Given the description of an element on the screen output the (x, y) to click on. 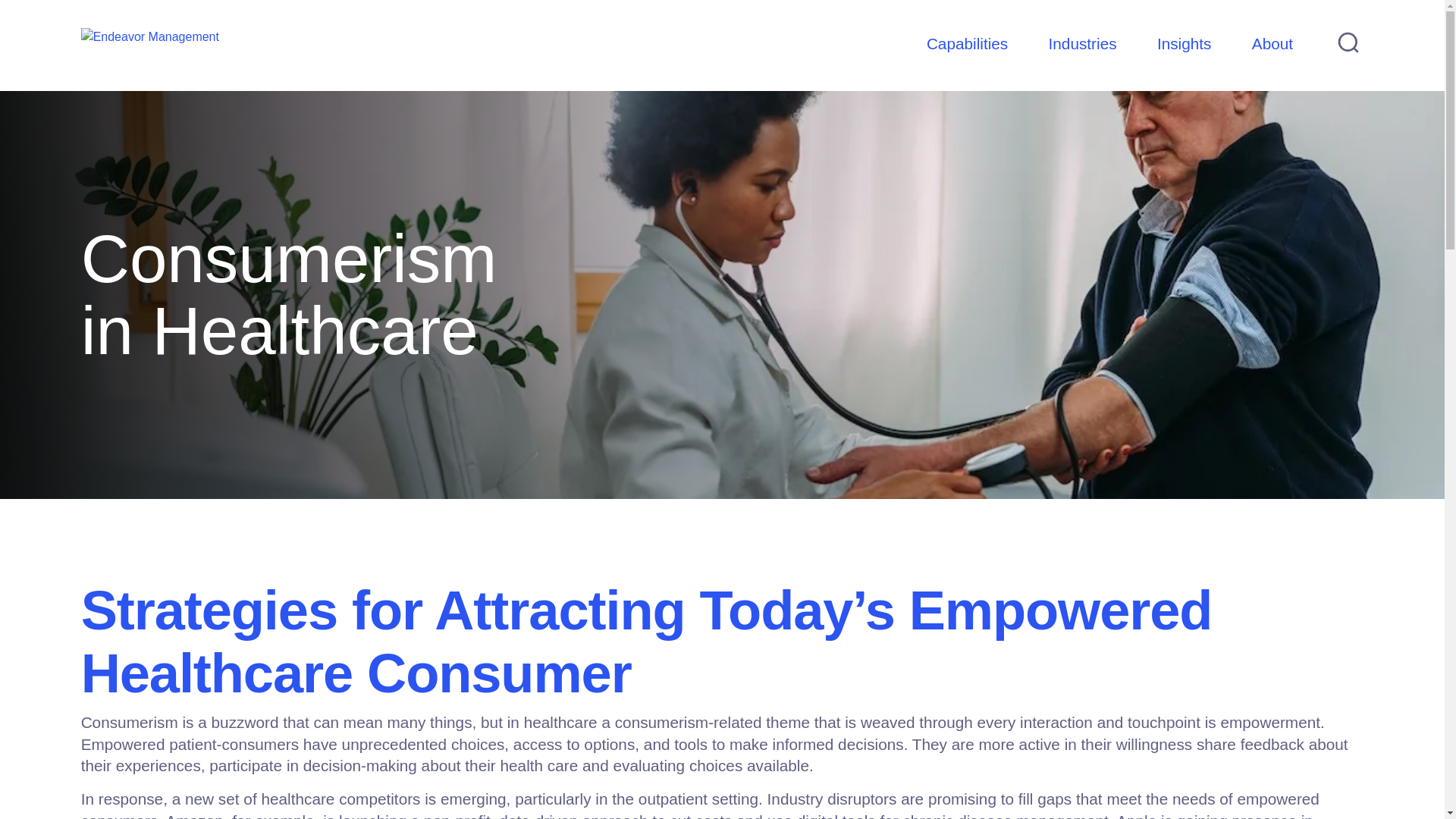
Industries (1082, 45)
Capabilities (966, 45)
